Given the description of an element on the screen output the (x, y) to click on. 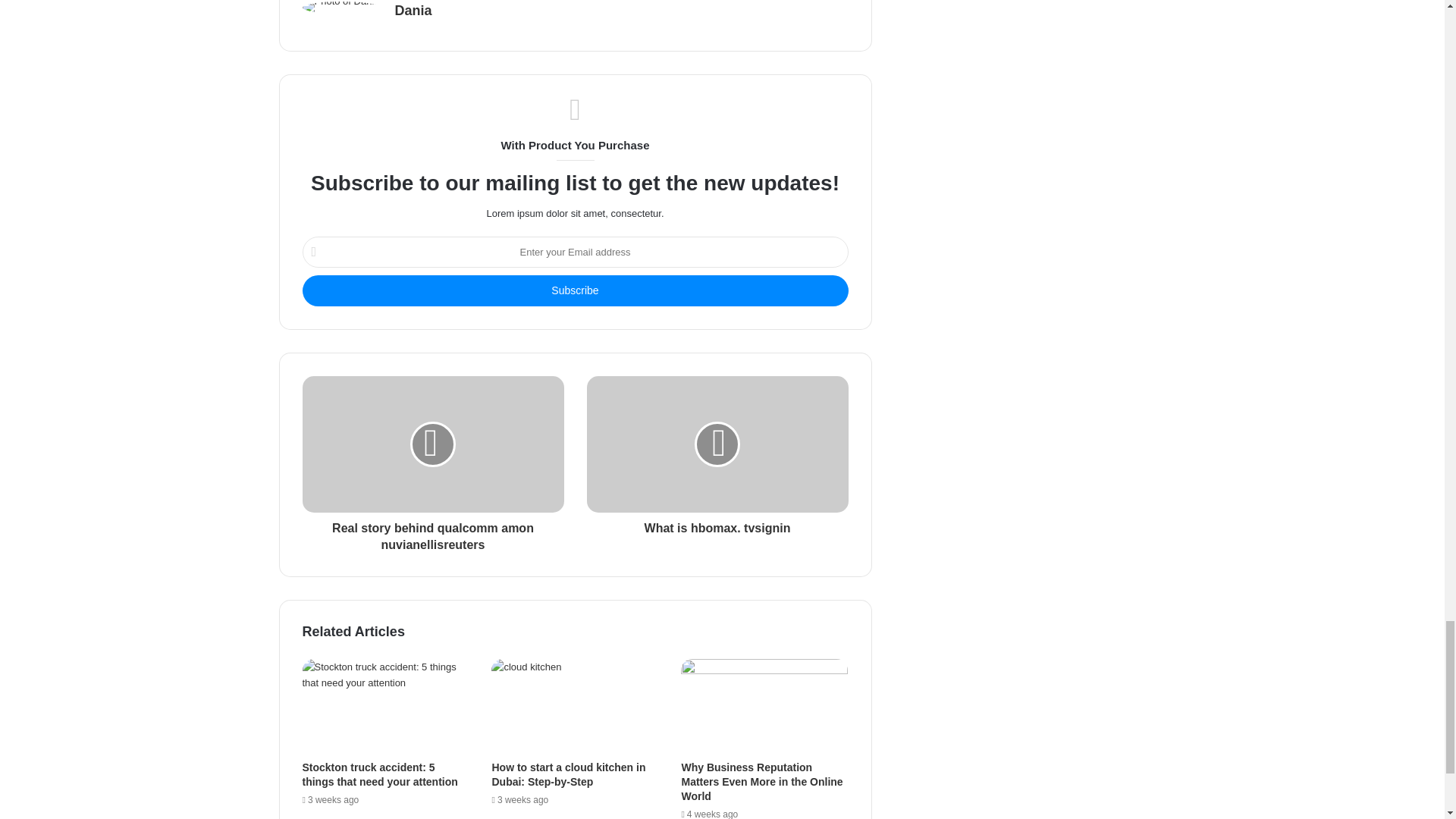
Subscribe (574, 290)
